Given the description of an element on the screen output the (x, y) to click on. 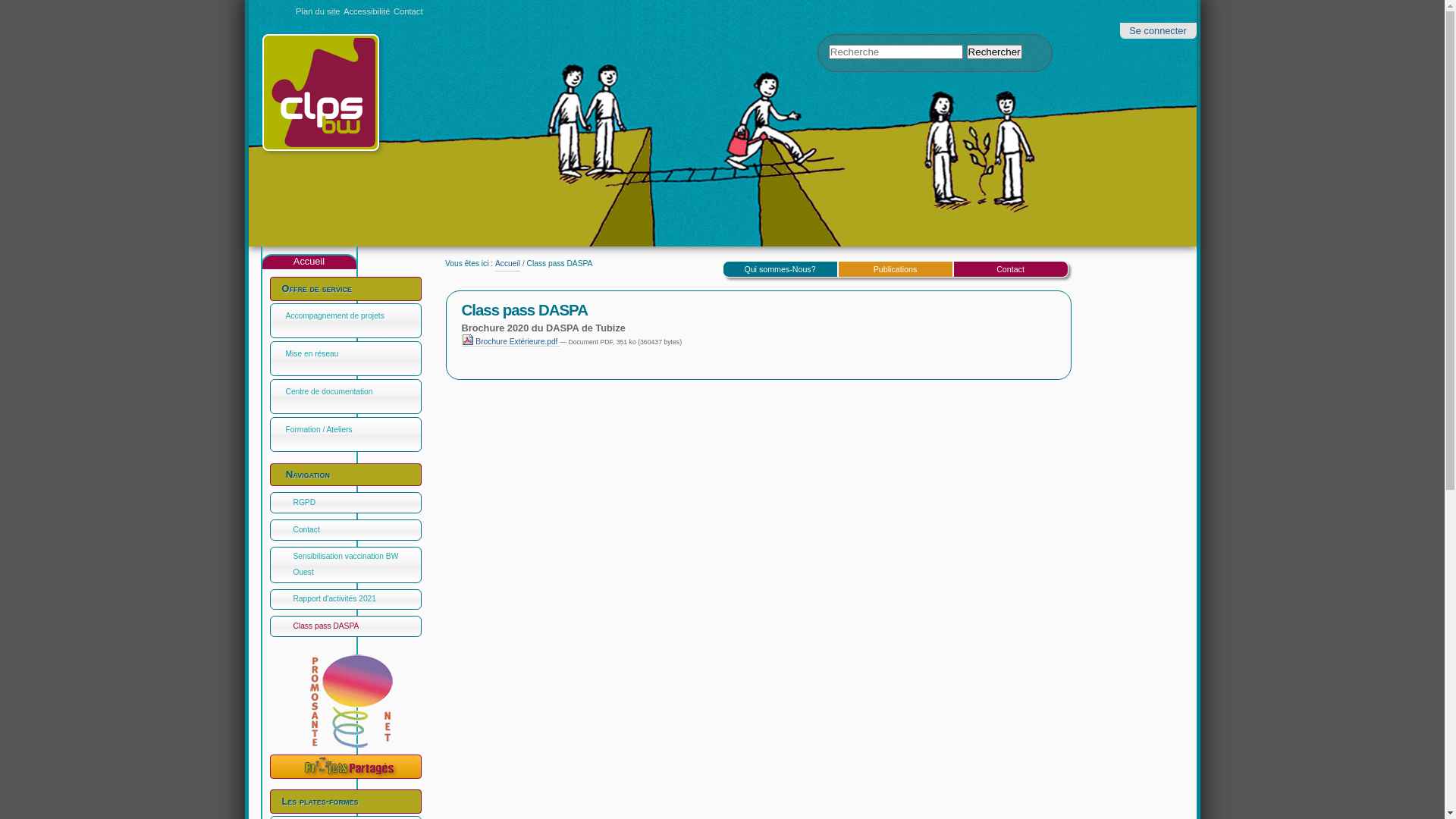
Accompagnement de projets Element type: text (352, 315)
RGPD Element type: text (344, 502)
Recherche Element type: hover (895, 51)
Accueil Element type: text (507, 263)
Class pass DASPA Element type: text (344, 625)
Rechercher Element type: text (994, 51)
Contact Element type: text (344, 528)
Formation / Ateliers Element type: text (352, 429)
Se connecter Element type: text (1157, 30)
Centre de documentation Element type: text (352, 391)
Accueil Element type: text (309, 262)
Contact Element type: text (408, 10)
Plan du site Element type: text (317, 10)
Sensibilisation vaccination BW Ouest Element type: text (344, 564)
Navigation Element type: text (349, 474)
Contact Element type: text (1010, 268)
